Given the description of an element on the screen output the (x, y) to click on. 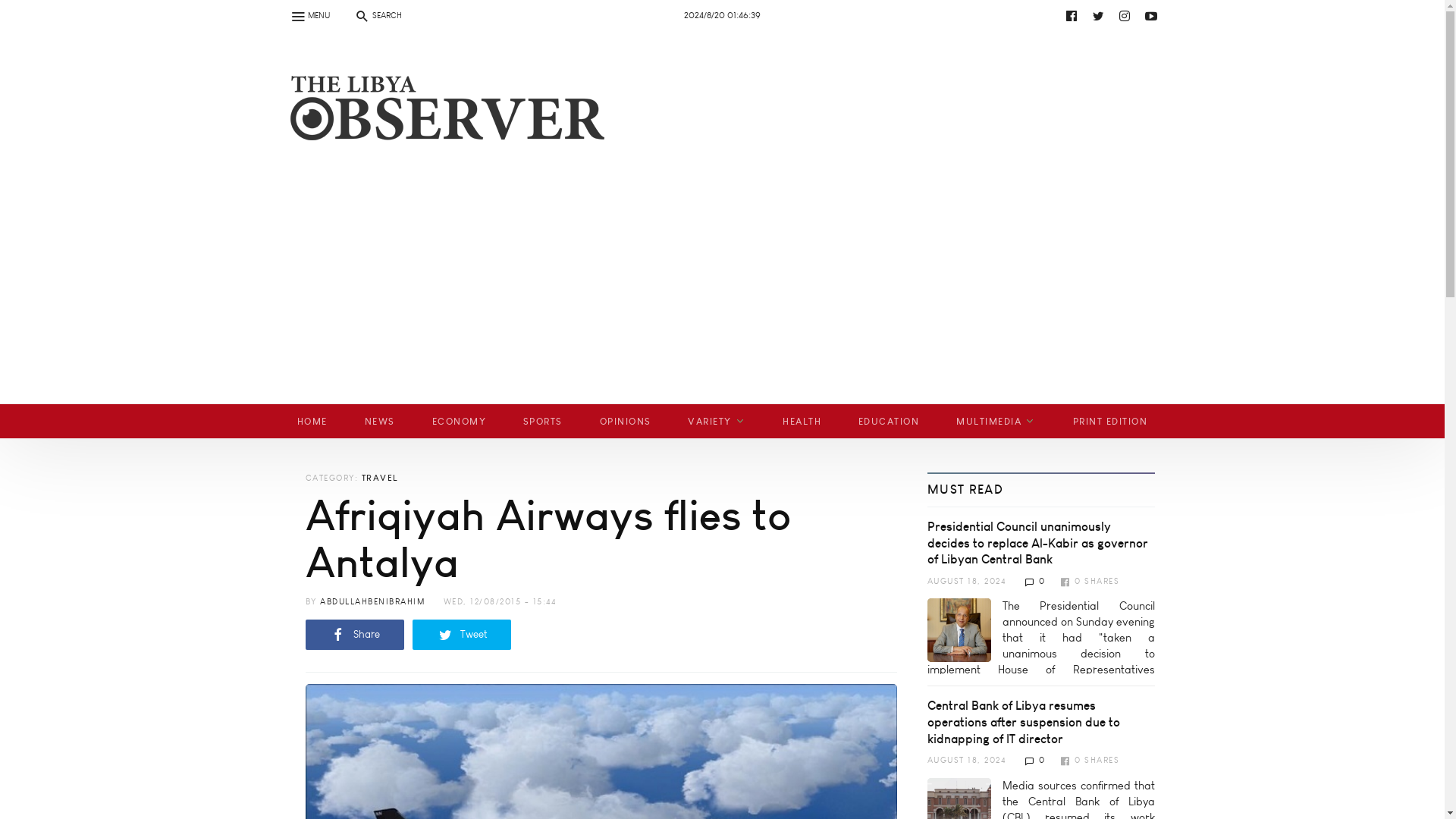
youtube (449, 52)
Search (20, 9)
MULTIMEDIA (995, 421)
Home (441, 126)
OPINIONS (624, 421)
youtube (736, 14)
MENU (309, 15)
twitter (1097, 14)
SPORTS (541, 421)
